Given the description of an element on the screen output the (x, y) to click on. 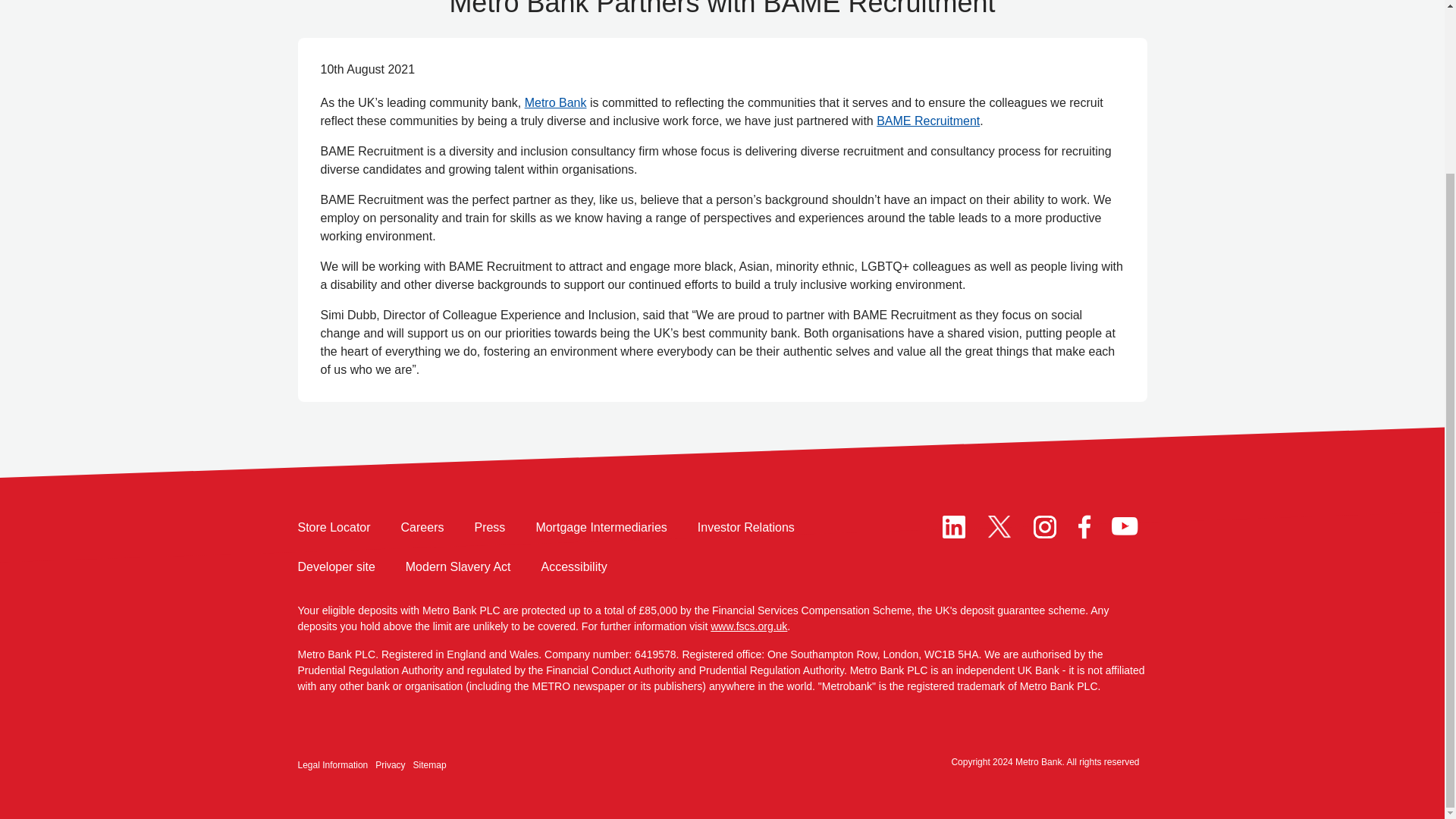
Developer site (335, 567)
Store Locator (333, 527)
BAME Recruitment (927, 120)
Mortgage Intermediaries (600, 527)
FSCS Website (748, 625)
Investor Relations (745, 527)
Modern Slavery Act (458, 567)
Metro Bank (555, 102)
Accessibility (574, 567)
Careers (422, 527)
